Given the description of an element on the screen output the (x, y) to click on. 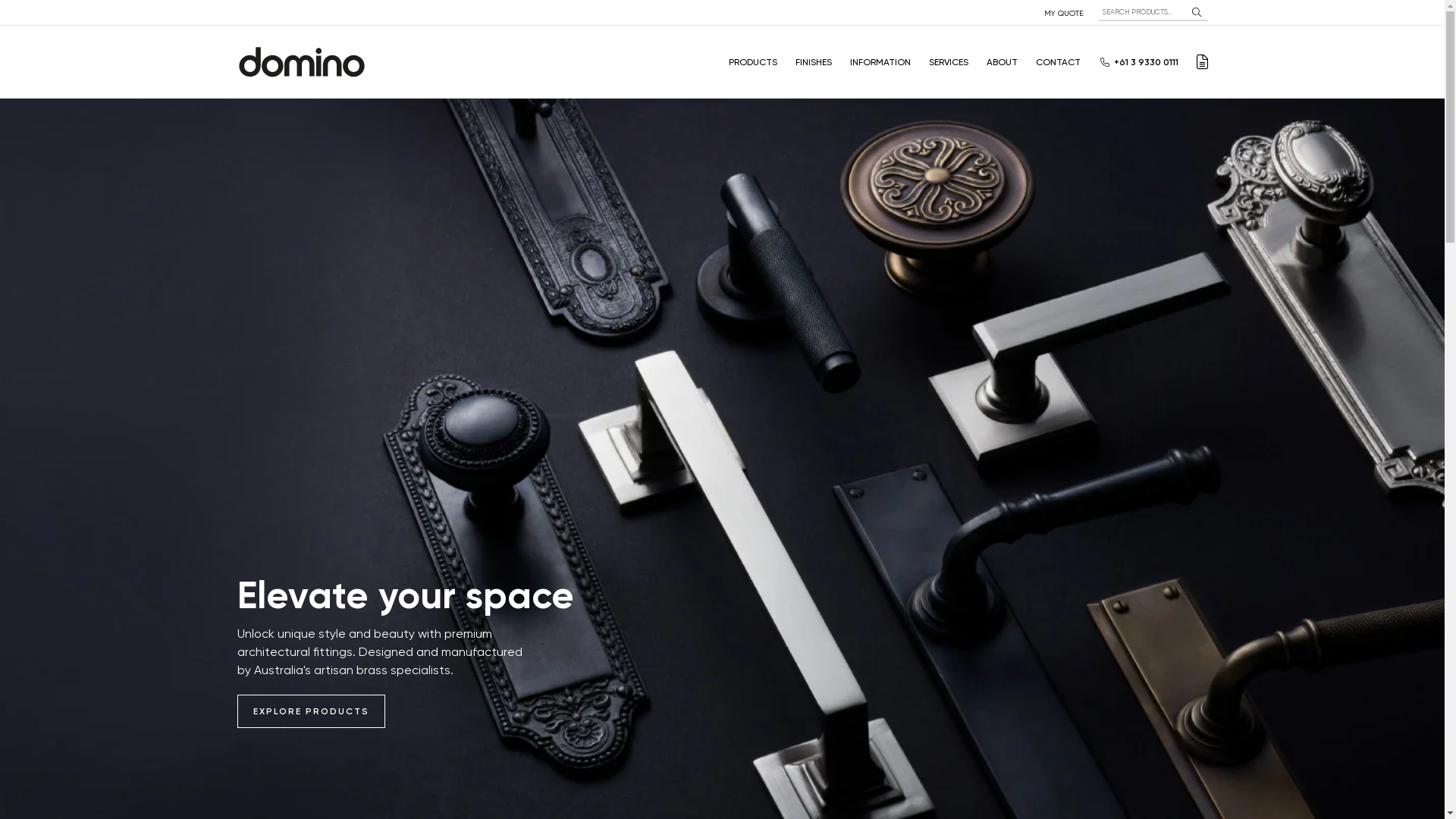
MY QUOTE Element type: text (1062, 12)
ABOUT Element type: text (1000, 61)
CONTACT Element type: text (1057, 61)
FINISHES Element type: text (812, 61)
Search for: Element type: hover (1141, 11)
Search Element type: text (1195, 11)
EXPLORE PRODUCTS Element type: text (310, 711)
PRODUCTS Element type: text (752, 61)
+61 3 9330 0111 Element type: text (1145, 61)
INFORMATION Element type: text (879, 61)
SERVICES Element type: text (947, 61)
